Given the description of an element on the screen output the (x, y) to click on. 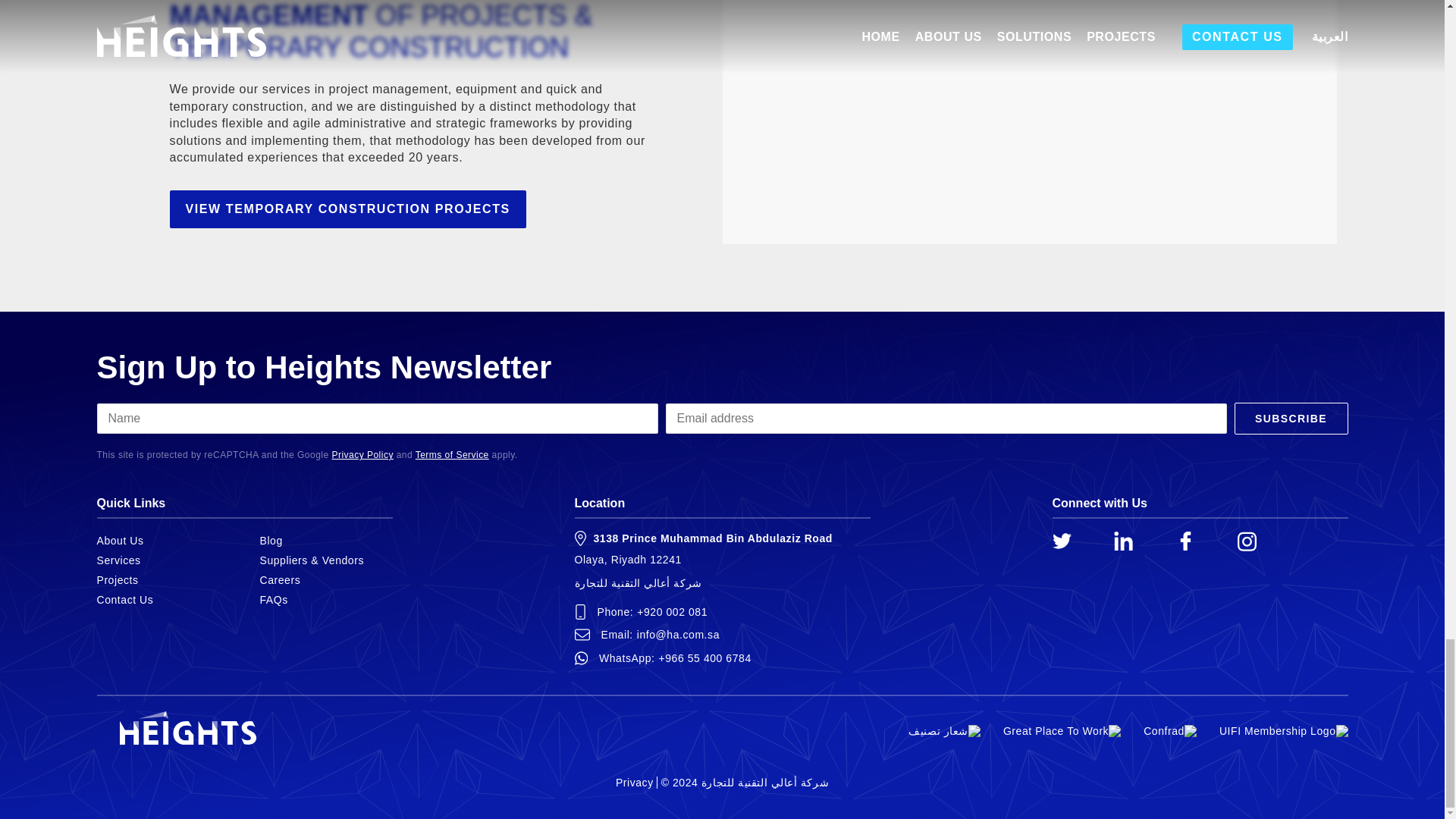
Heights Company (1126, 546)
Great Place To Work (1062, 730)
Heights Company (1189, 546)
UFI Membership (1284, 730)
Confrad (1169, 730)
